Given the description of an element on the screen output the (x, y) to click on. 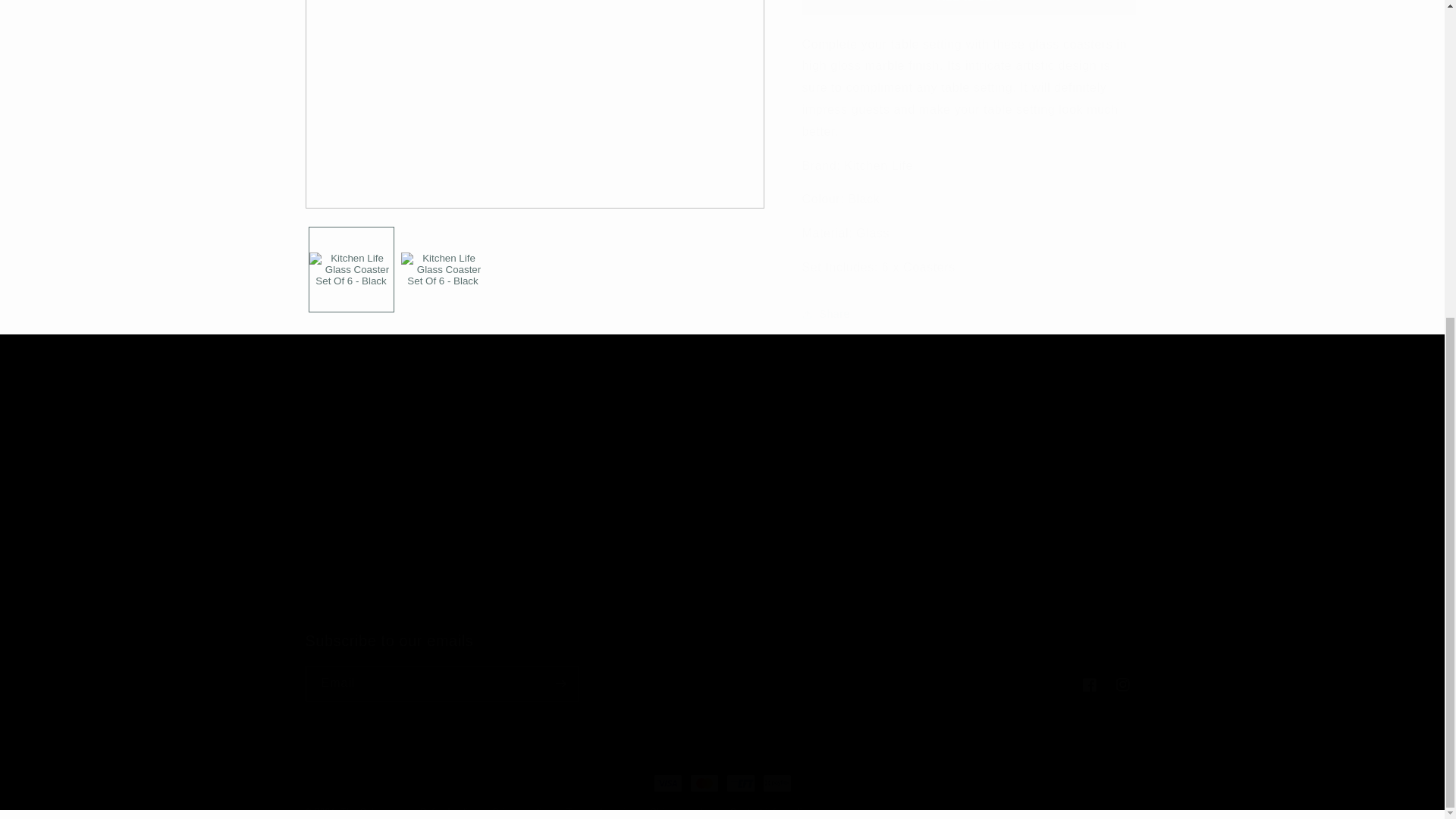
Open media 1 in modal (533, 103)
